Given the description of an element on the screen output the (x, y) to click on. 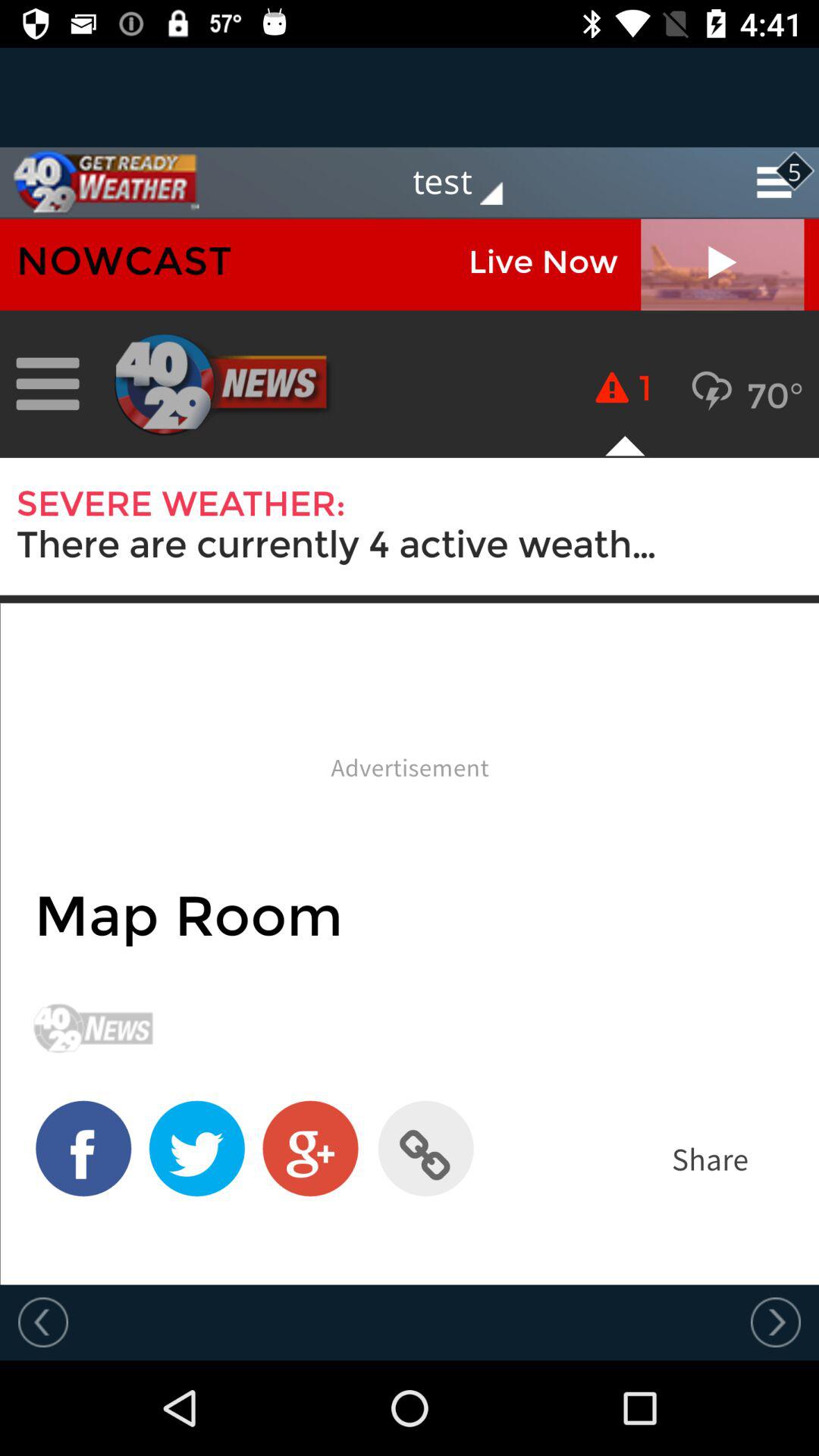
article text box (409, 751)
